Given the description of an element on the screen output the (x, y) to click on. 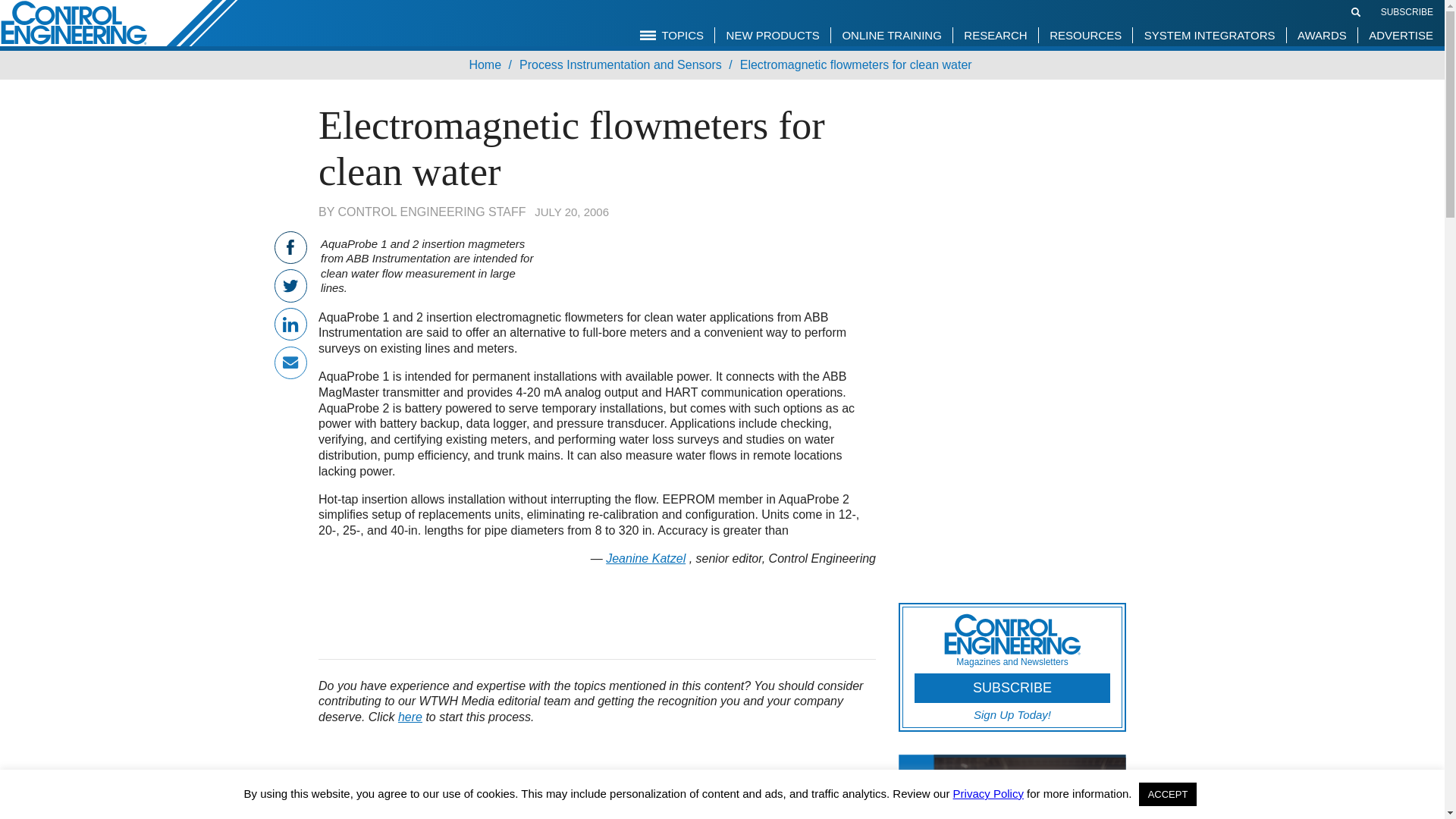
Search (1356, 11)
ONLINE TRAINING (890, 34)
SUBSCRIBE (1406, 11)
NEW PRODUCTS (772, 34)
RESEARCH (995, 34)
SYSTEM INTEGRATORS (1209, 34)
RESOURCES (1085, 34)
How to Contribute (409, 716)
TOPICS (671, 34)
